Given the description of an element on the screen output the (x, y) to click on. 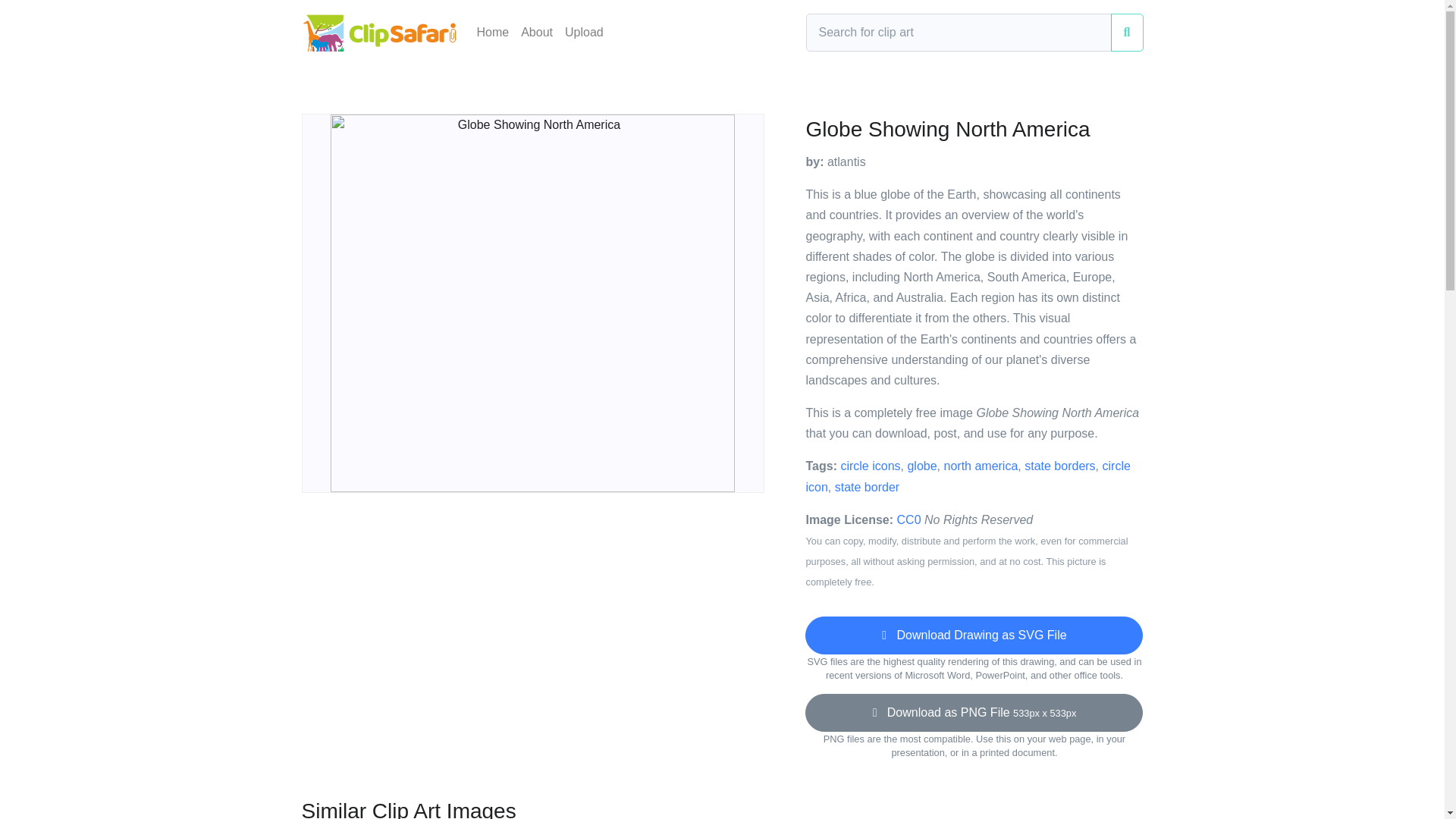
state border (866, 486)
  Download Drawing as SVG File (973, 635)
globe (921, 465)
CC0 (908, 519)
Home (492, 32)
circle icons (869, 465)
  Download as PNG File 533px x 533px (973, 712)
north america (980, 465)
About (537, 32)
